Given the description of an element on the screen output the (x, y) to click on. 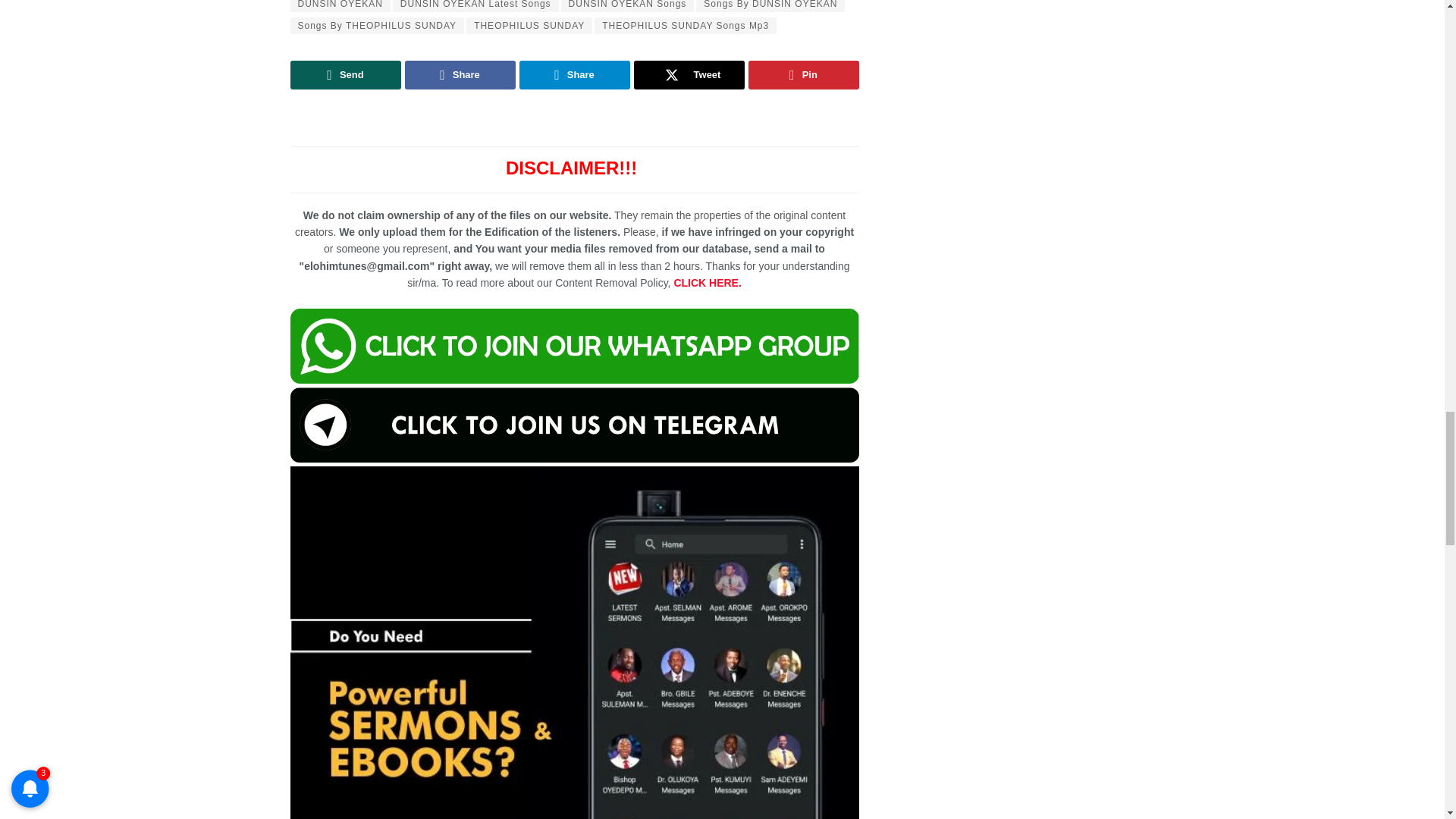
CLICK HERE (706, 282)
